Given the description of an element on the screen output the (x, y) to click on. 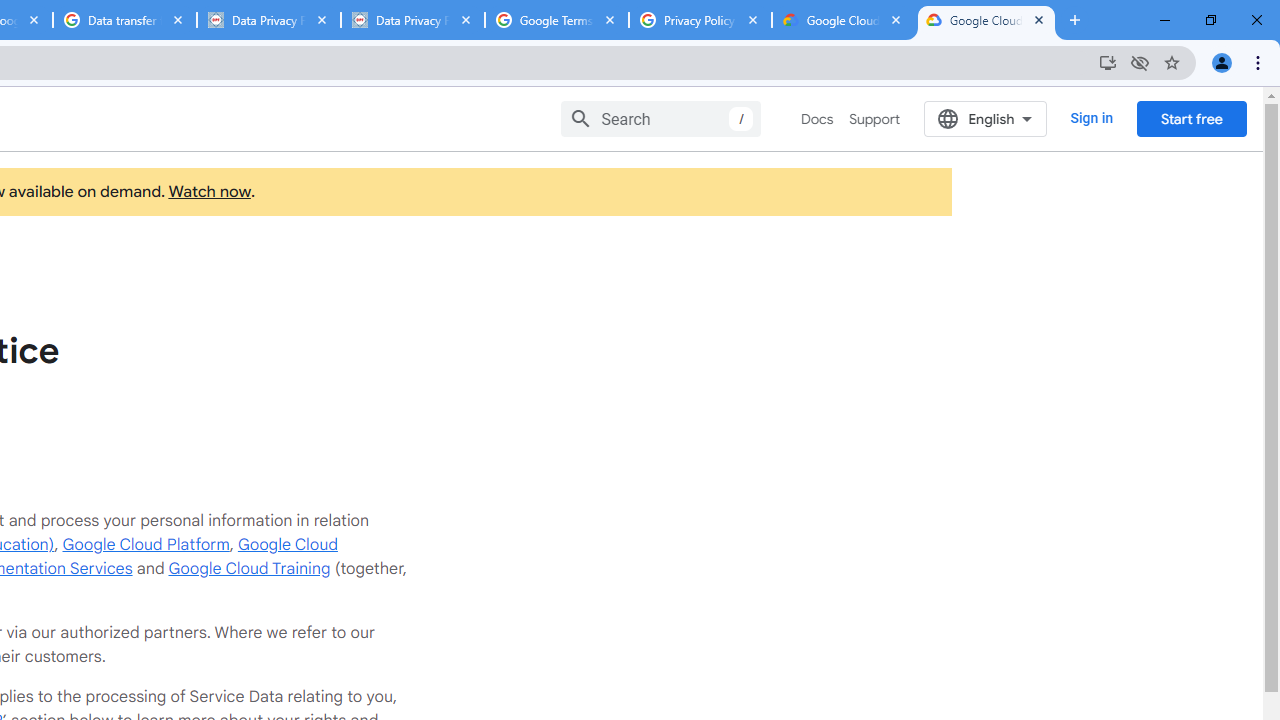
English (985, 118)
Google Cloud Privacy Notice (986, 20)
Data Privacy Framework (412, 20)
Install Google Cloud (1107, 62)
Data Privacy Framework (268, 20)
